Given the description of an element on the screen output the (x, y) to click on. 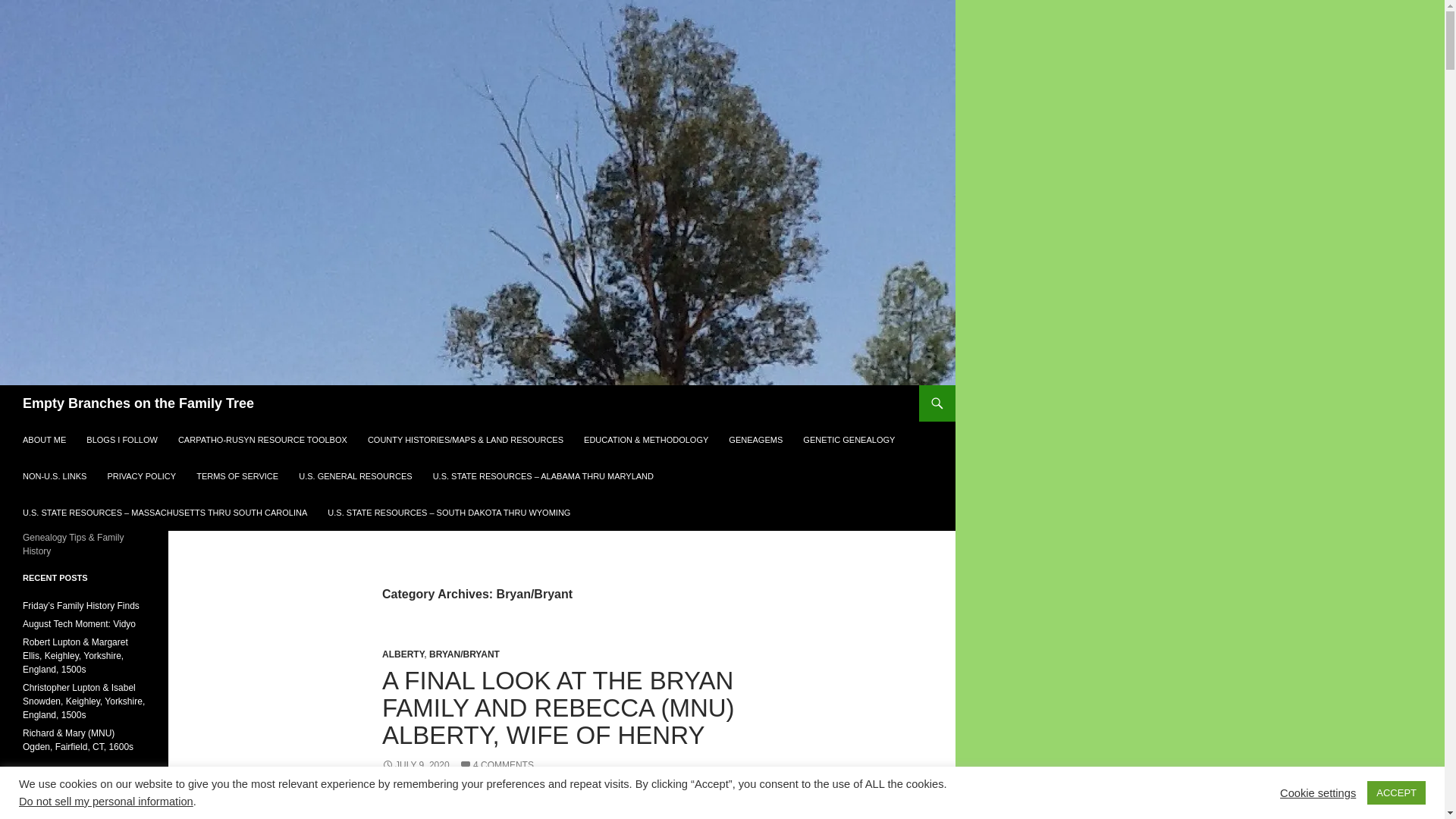
ABOUT ME (44, 439)
U.S. GENERAL RESOURCES (354, 475)
BLOGS I FOLLOW (122, 439)
Empty Branches on the Family Tree (138, 402)
4 COMMENTS (497, 765)
PRIVACY POLICY (140, 475)
ALBERTY (402, 654)
CARPATHO-RUSYN RESOURCE TOOLBOX (262, 439)
JULY 9, 2020 (415, 765)
GENETIC GENEALOGY (848, 439)
TERMS OF SERVICE (236, 475)
GENEAGEMS (755, 439)
NON-U.S. LINKS (54, 475)
